Given the description of an element on the screen output the (x, y) to click on. 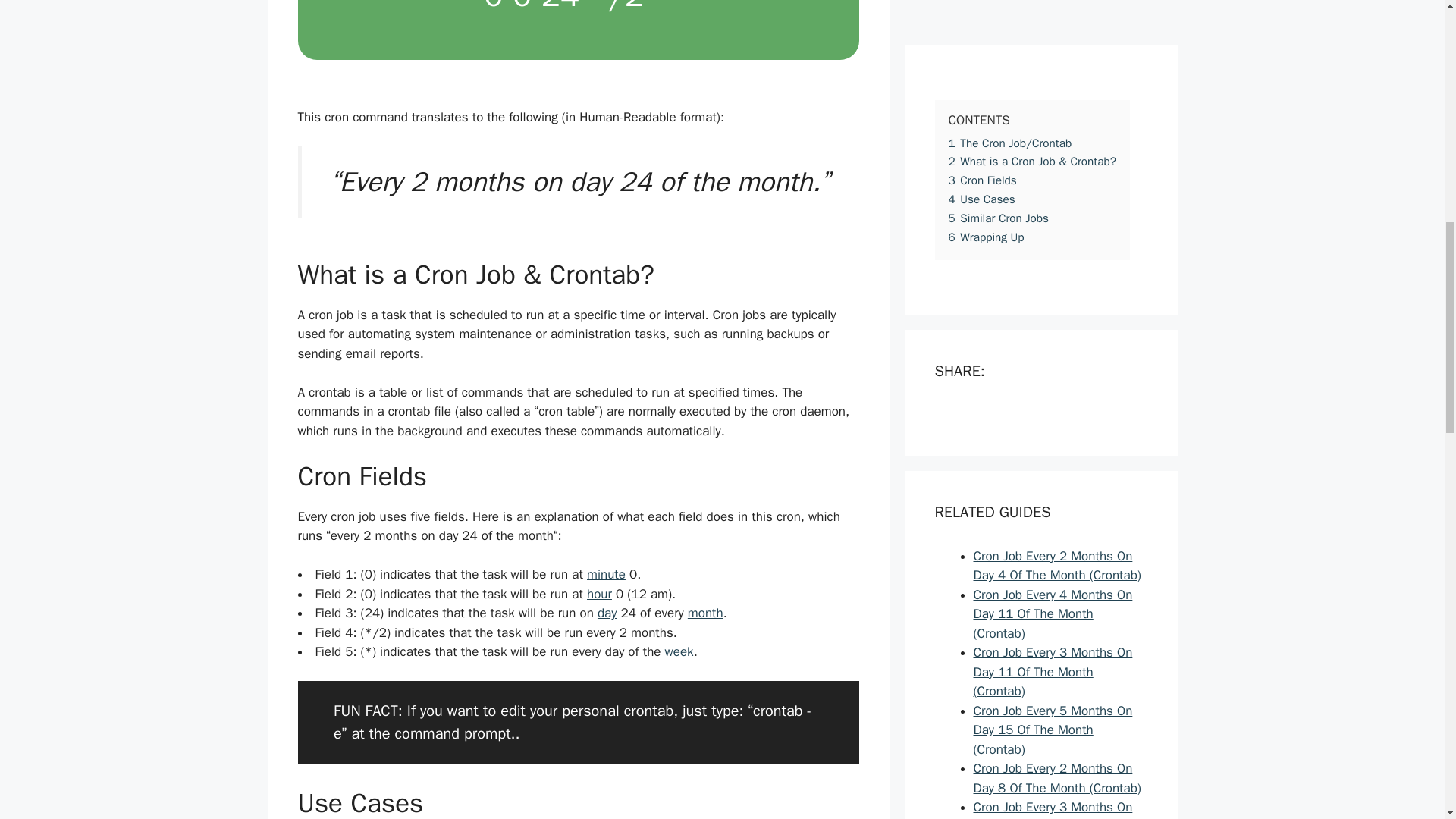
day (605, 612)
hour (598, 593)
minute (606, 574)
